Given the description of an element on the screen output the (x, y) to click on. 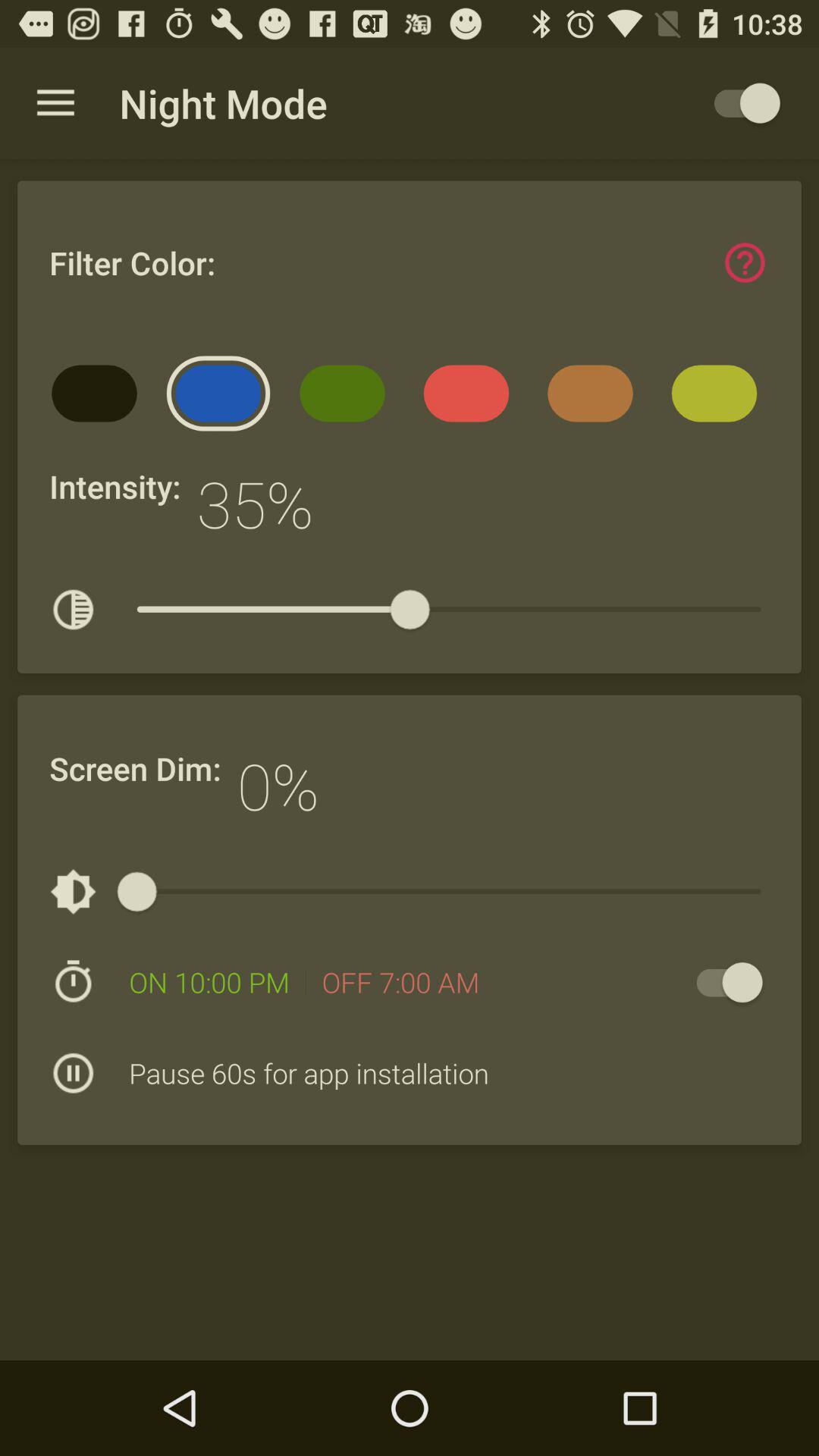
help (744, 262)
